Given the description of an element on the screen output the (x, y) to click on. 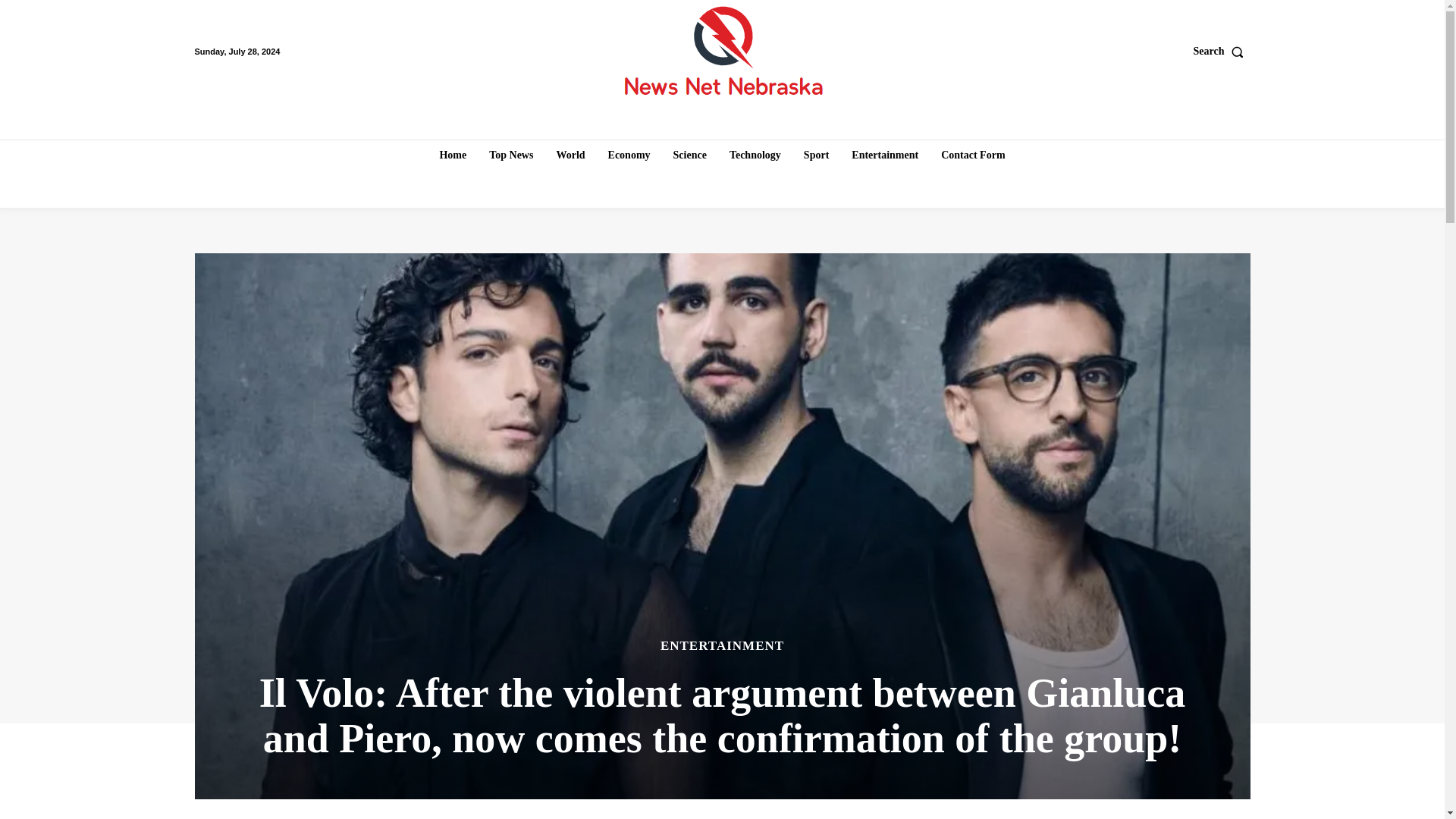
Science (689, 155)
Technology (755, 155)
Search (1221, 51)
Economy (628, 155)
Home (452, 155)
Top News (510, 155)
Sport (815, 155)
Entertainment (885, 155)
World (570, 155)
ENTERTAINMENT (722, 645)
Contact Form (972, 155)
